Given the description of an element on the screen output the (x, y) to click on. 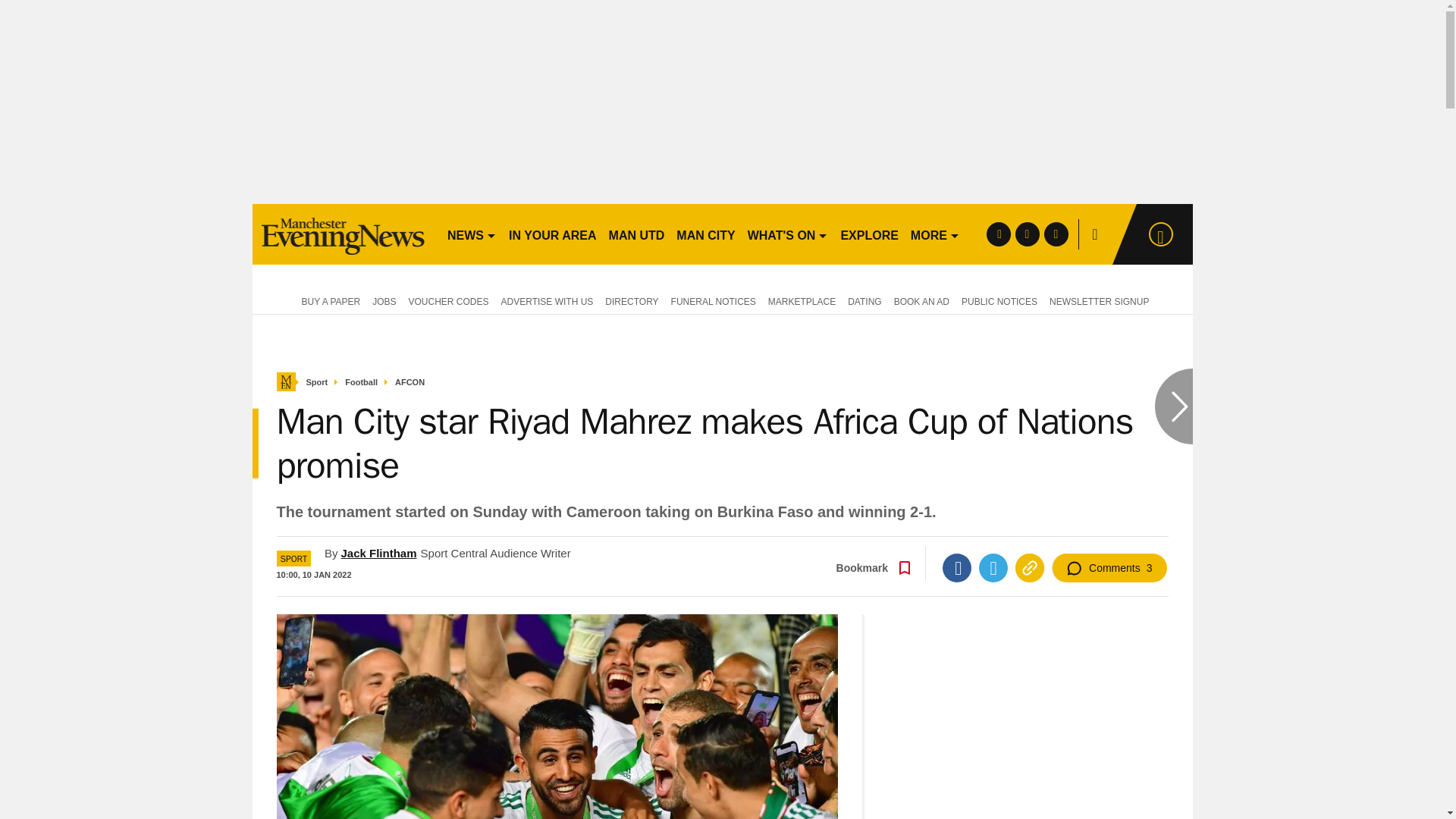
twitter (1026, 233)
MAN UTD (636, 233)
Comments (1108, 567)
instagram (1055, 233)
Twitter (992, 567)
Facebook (956, 567)
men (342, 233)
WHAT'S ON (787, 233)
MAN CITY (705, 233)
facebook (997, 233)
